Given the description of an element on the screen output the (x, y) to click on. 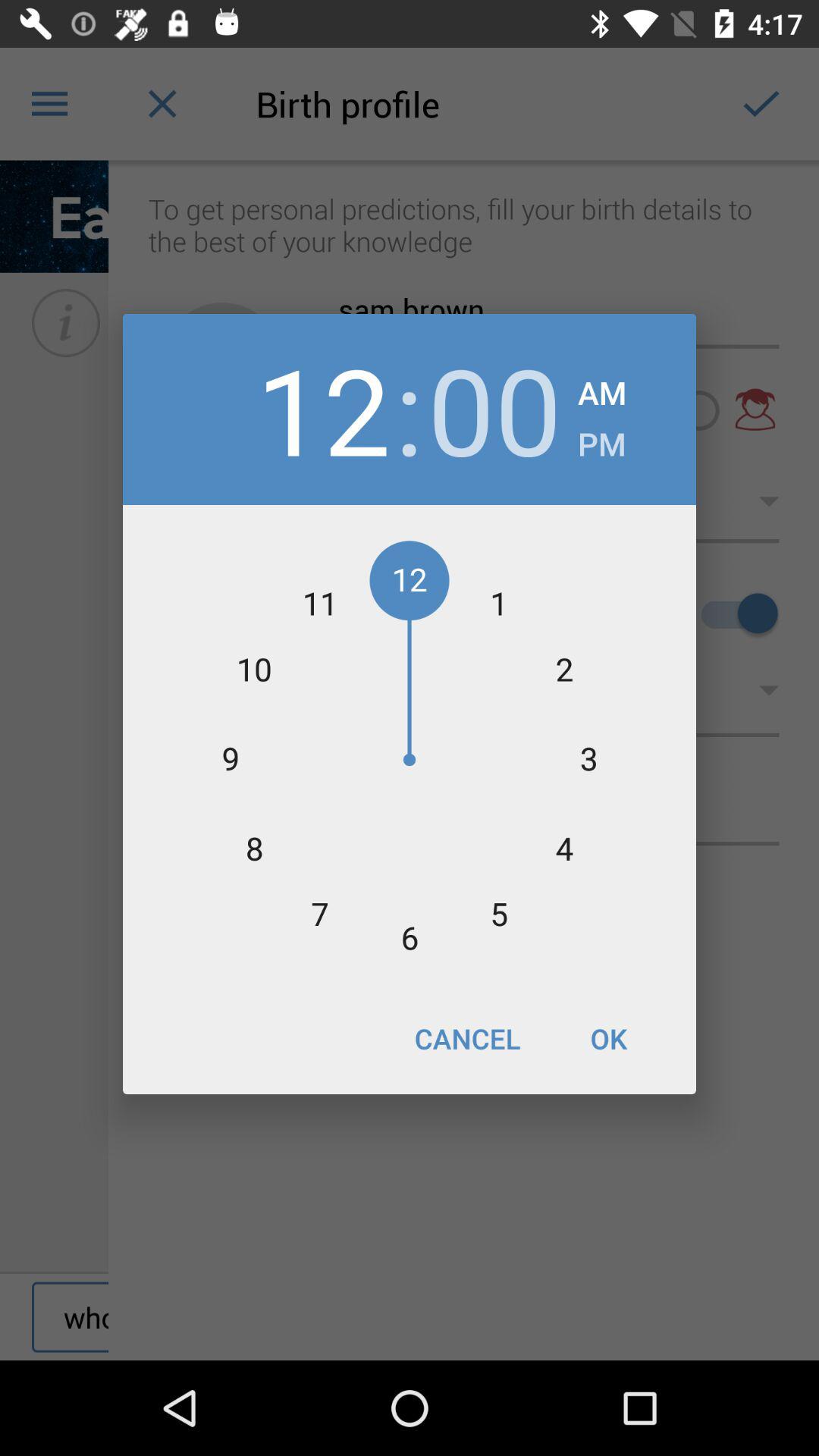
open the cancel (467, 1038)
